Given the description of an element on the screen output the (x, y) to click on. 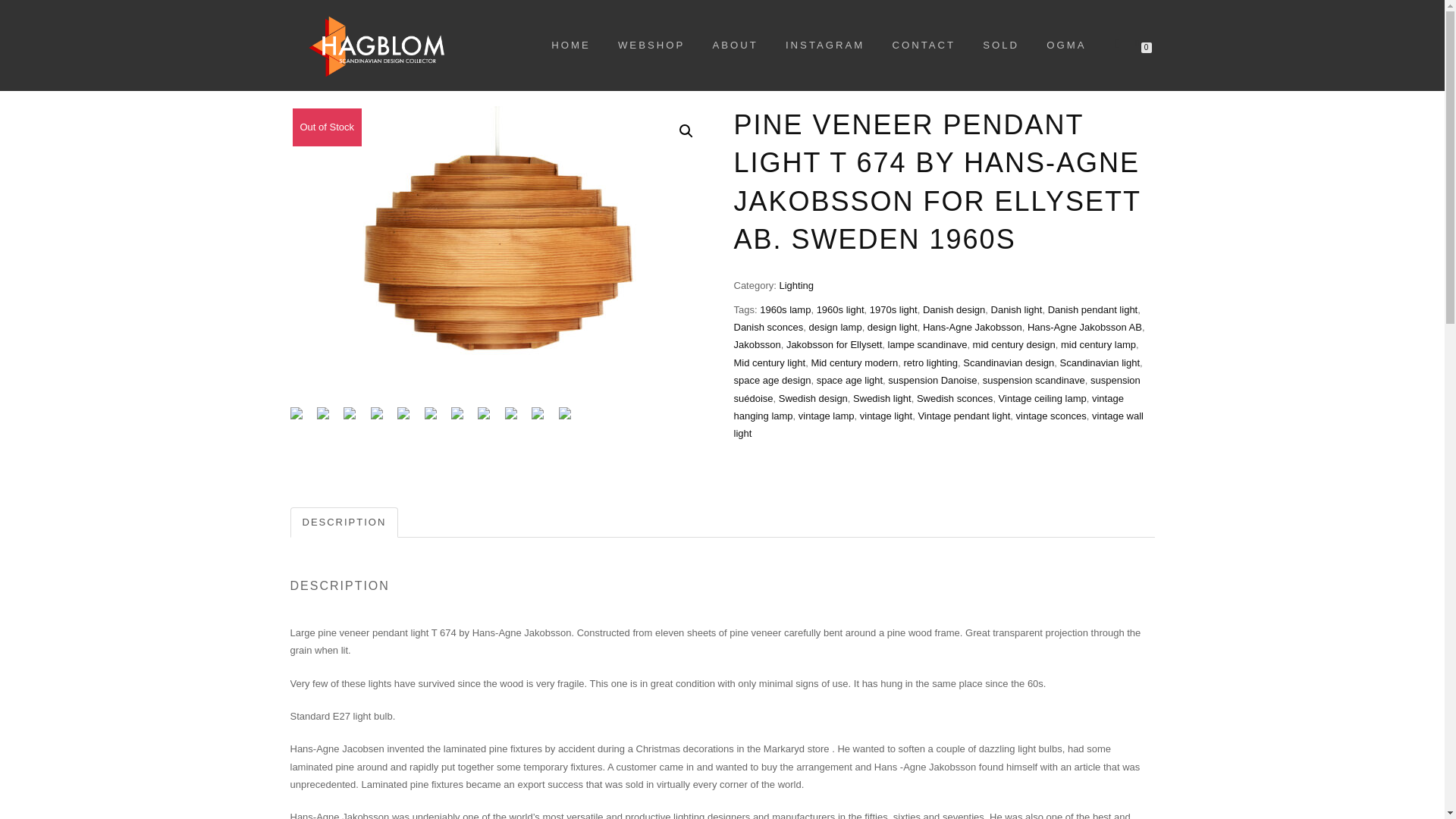
HOME (571, 45)
View your shopping cart (1139, 41)
Hans-Agne Jakobsson (972, 326)
design lamp (835, 326)
ABOUT (734, 45)
design light (892, 326)
Lighting (795, 285)
Danish light (1016, 309)
lampe scandinave (928, 344)
Danish design (954, 309)
